Given the description of an element on the screen output the (x, y) to click on. 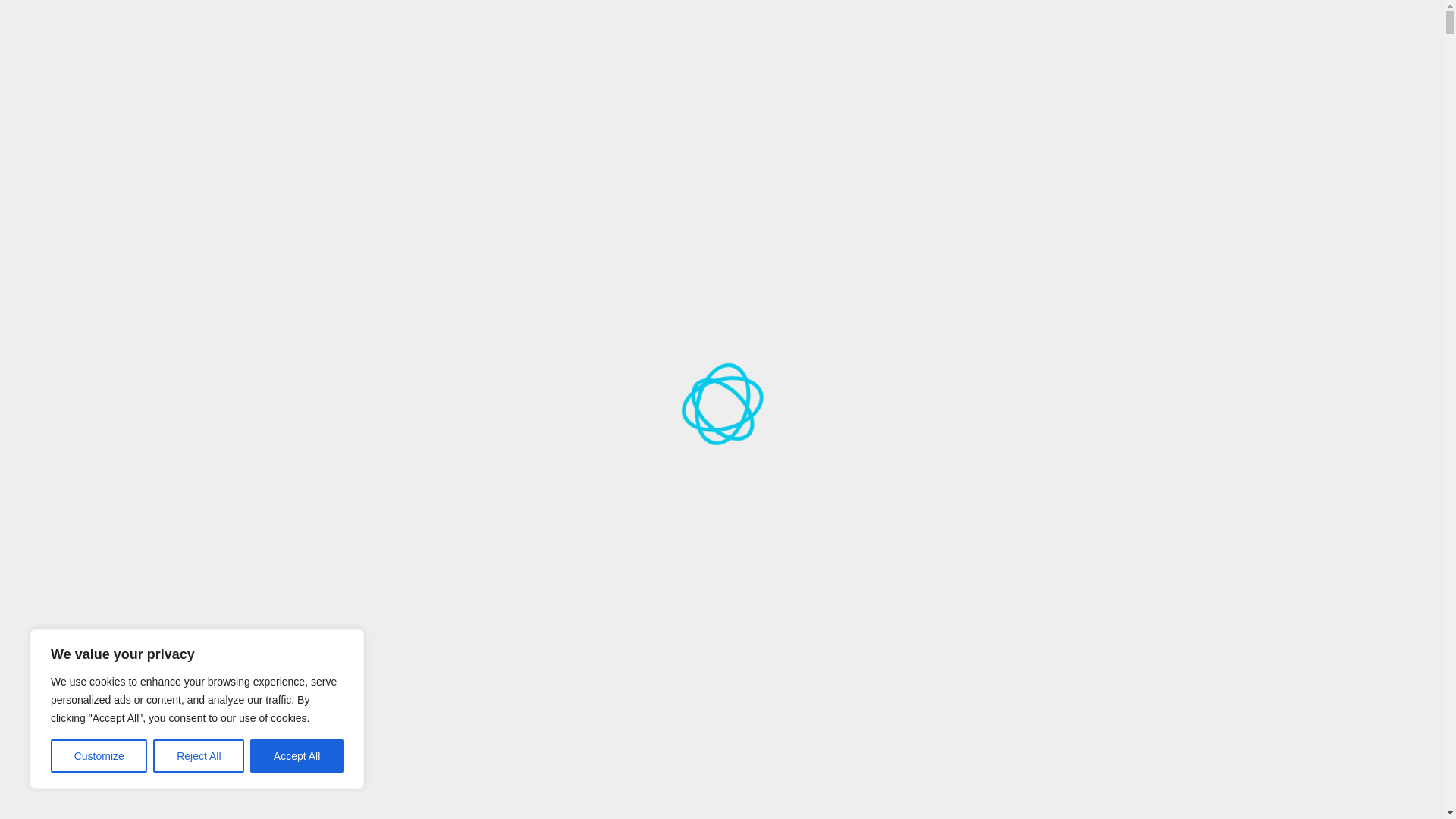
Posts (342, 396)
BEAUTY (708, 93)
TECH (539, 184)
BUSINESS (776, 93)
HOME AND FAMILY (998, 93)
Customize (98, 756)
Book Appointment (635, 184)
FINANCE (846, 93)
Breaking News (400, 396)
GENERAL (1092, 93)
Home (303, 396)
Accept All (296, 756)
Go (1137, 23)
BOOK APPOINTMENT (635, 184)
HOME (541, 93)
